Given the description of an element on the screen output the (x, y) to click on. 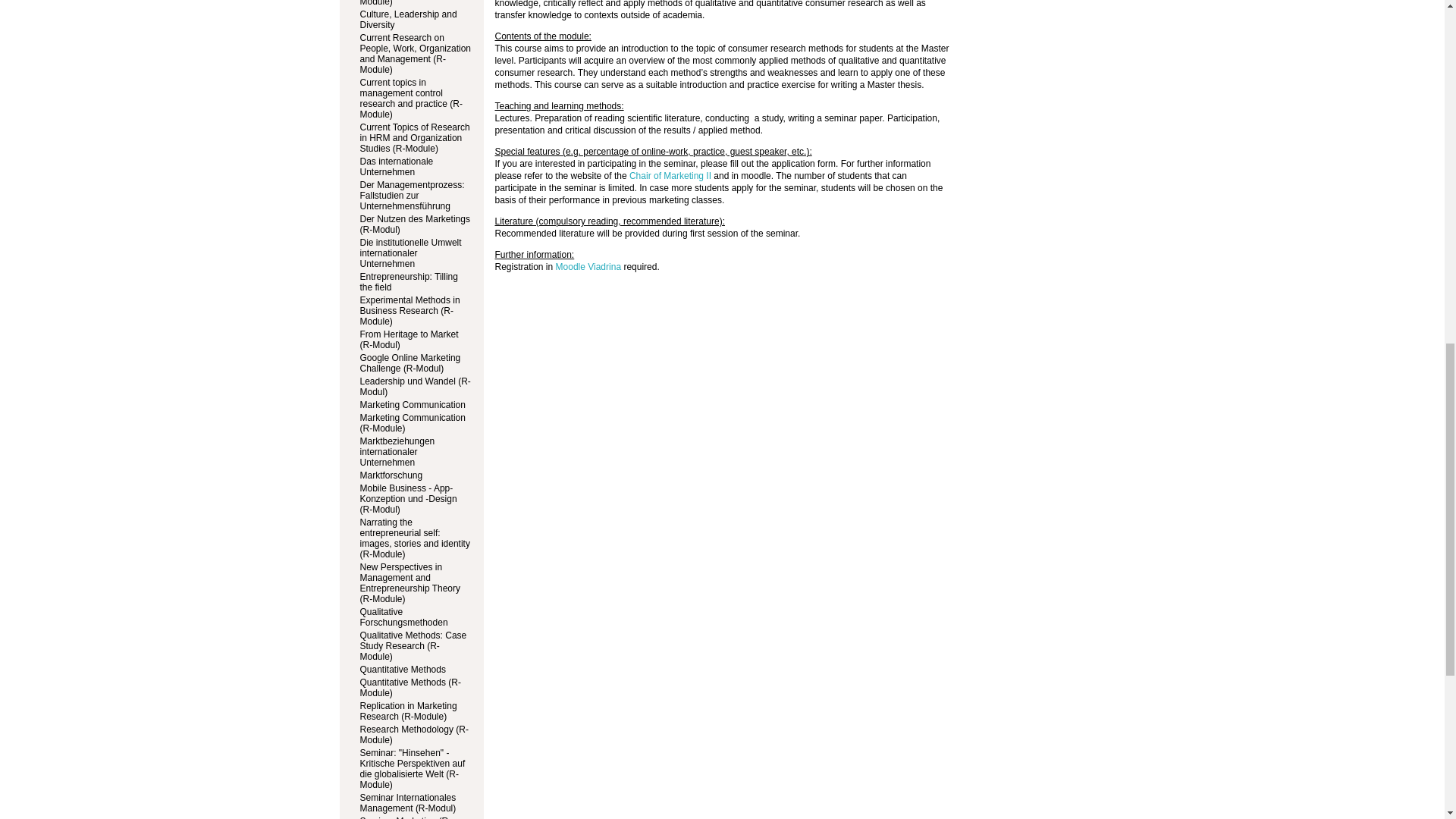
Culture, Leadership and Diversity (408, 19)
Moodle Viadrina (588, 266)
Das internationale Unternehmen (395, 166)
